Given the description of an element on the screen output the (x, y) to click on. 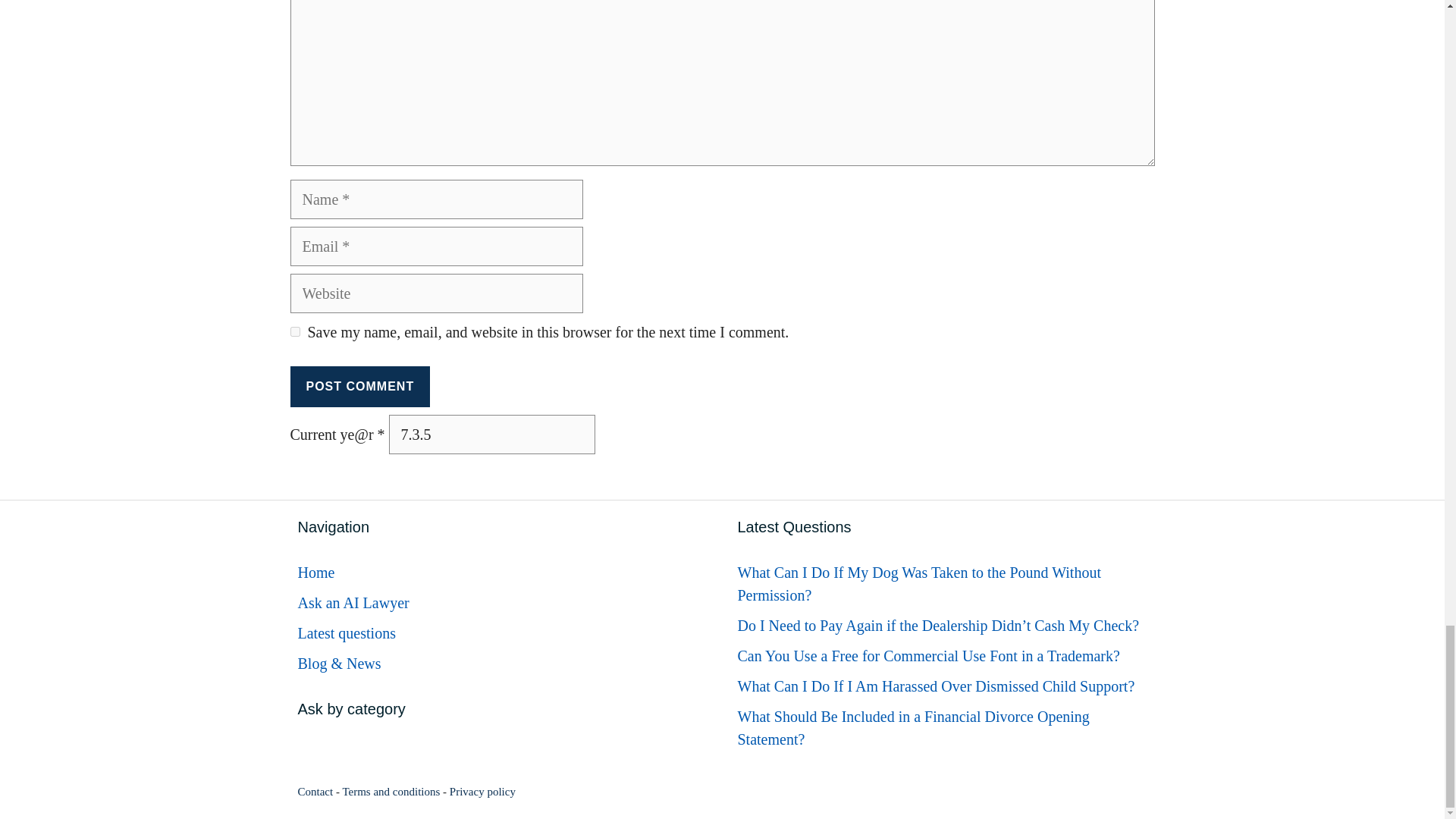
7.3.5 (491, 434)
Post Comment (359, 386)
Post Comment (359, 386)
What Can I Do If I Am Harassed Over Dismissed Child Support? (935, 686)
Latest questions (345, 632)
Can You Use a Free for Commercial Use Font in a Trademark? (927, 655)
Terms and conditions (390, 791)
Home (315, 572)
yes (294, 331)
Ask an AI Lawyer (353, 602)
Privacy policy (482, 791)
Contact (315, 791)
